Given the description of an element on the screen output the (x, y) to click on. 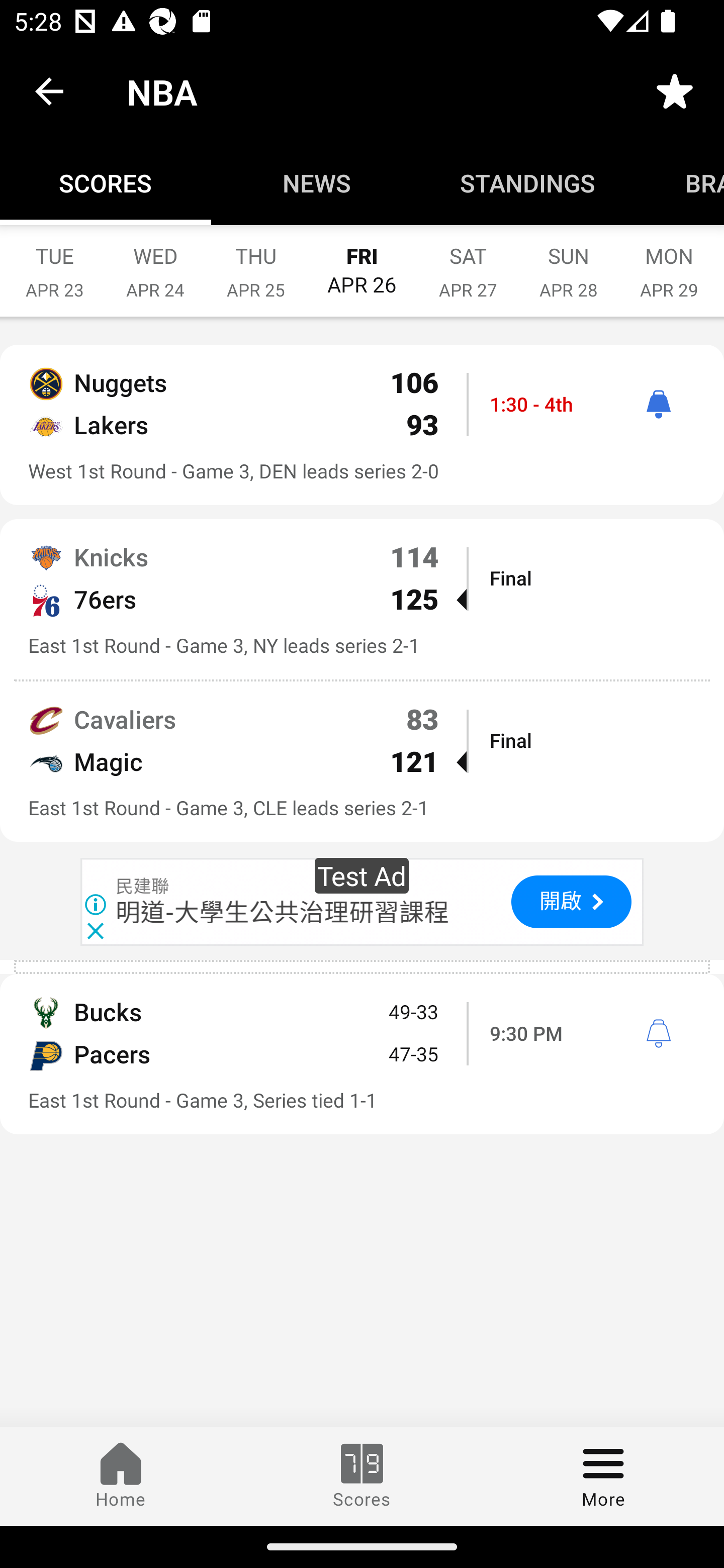
back.button (49, 90)
Favorite toggle (674, 90)
News NEWS (316, 183)
Standings STANDINGS (527, 183)
TUE APR 23 (54, 262)
WED APR 24 (154, 262)
THU APR 25 (255, 262)
FRI APR 26 (361, 261)
SAT APR 27 (467, 262)
SUN APR 28 (568, 262)
MON APR 29 (669, 262)
ì (658, 404)
民建聯 (142, 886)
開啟 (570, 901)
明道-大學生公共治理研習課程 (282, 912)
í (658, 1033)
Home (120, 1475)
Scores (361, 1475)
